Given the description of an element on the screen output the (x, y) to click on. 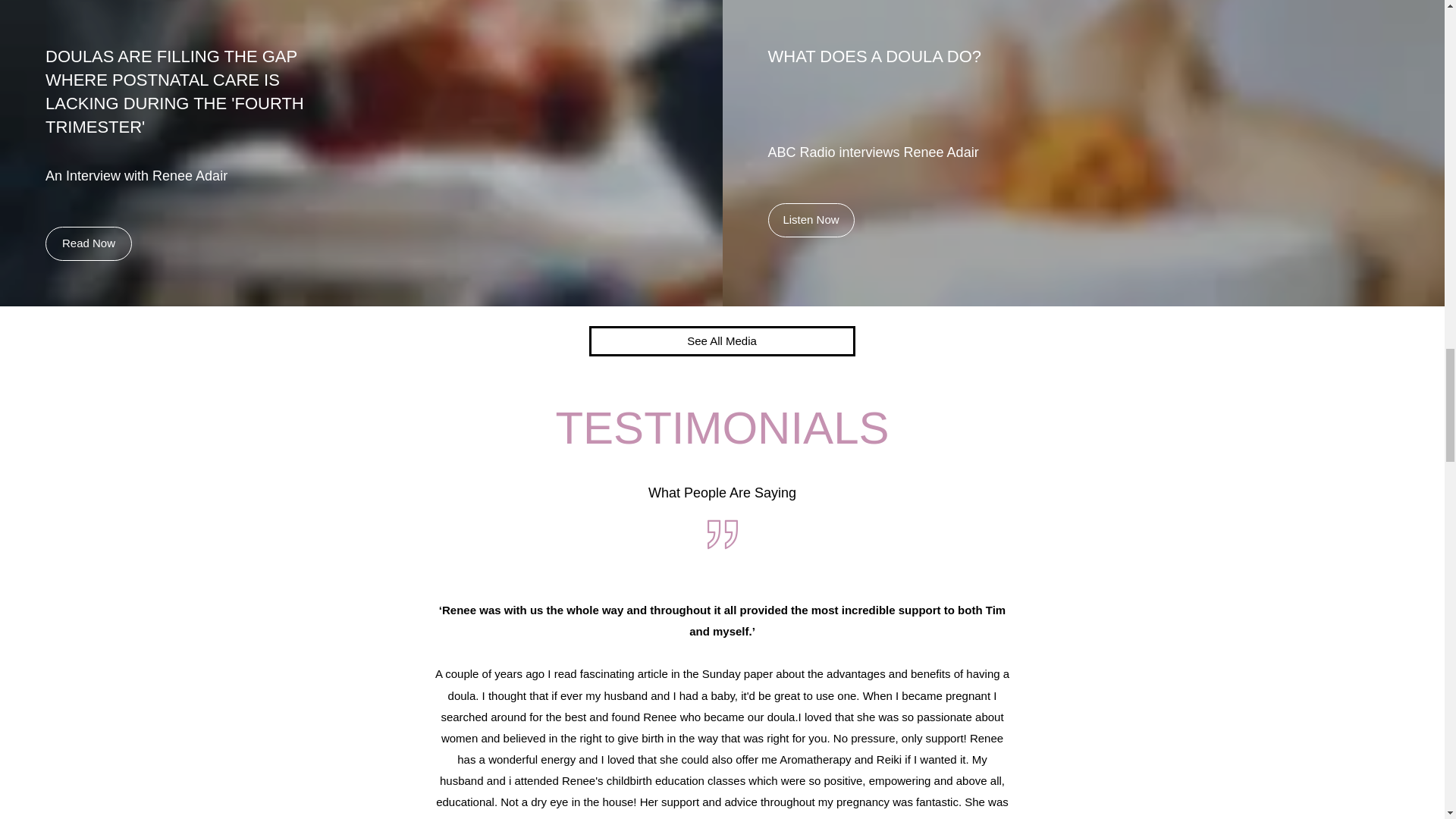
Read Now (88, 243)
See All Media (721, 340)
Listen Now (810, 220)
